Given the description of an element on the screen output the (x, y) to click on. 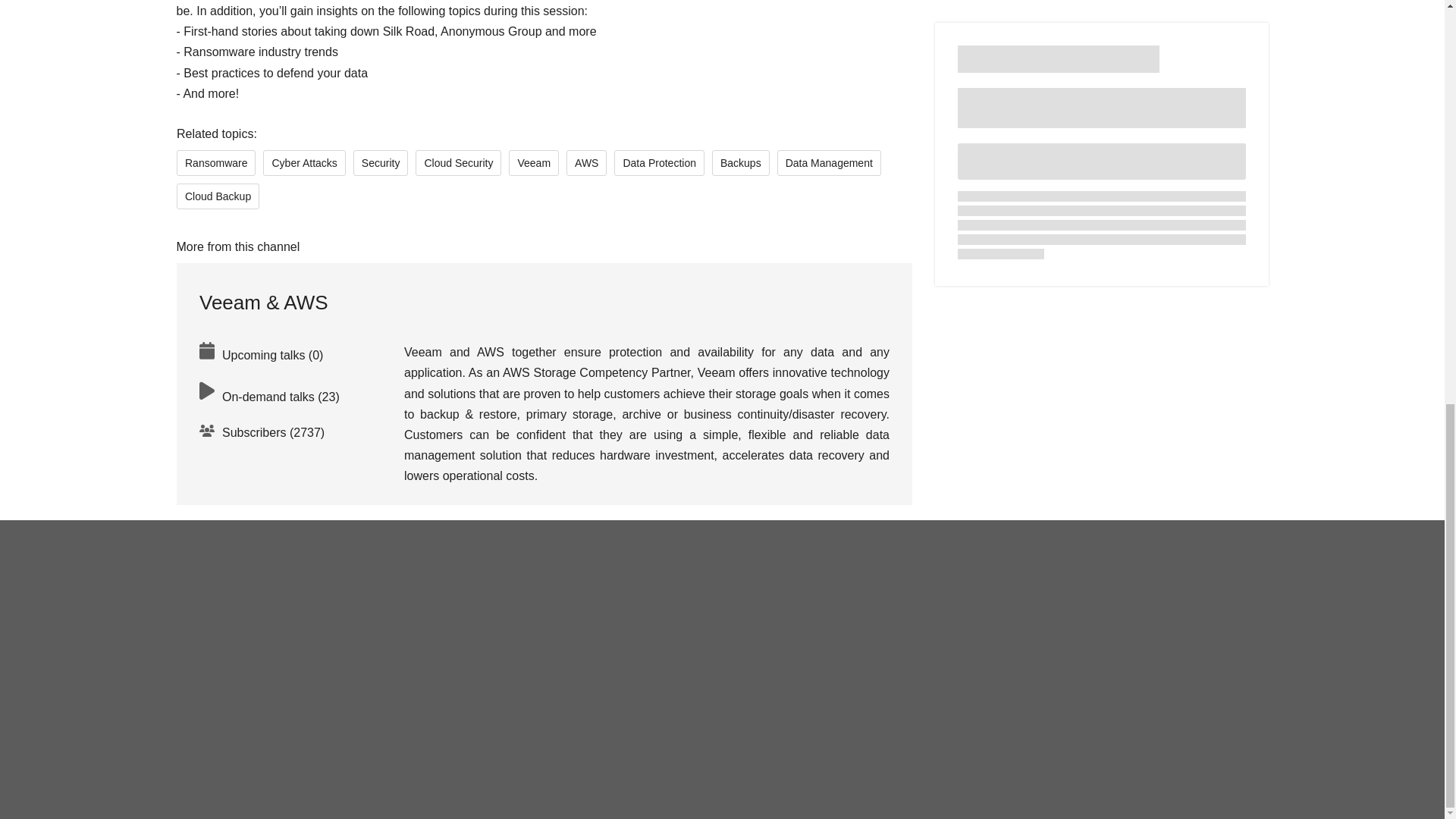
AWS (586, 162)
Cyber Attacks (304, 162)
Veeam (533, 162)
Security (379, 162)
Backups (739, 162)
Data Management (828, 162)
Cloud Security (457, 162)
Ransomware (215, 162)
Data Protection (659, 162)
Cloud Backup (217, 196)
